Given the description of an element on the screen output the (x, y) to click on. 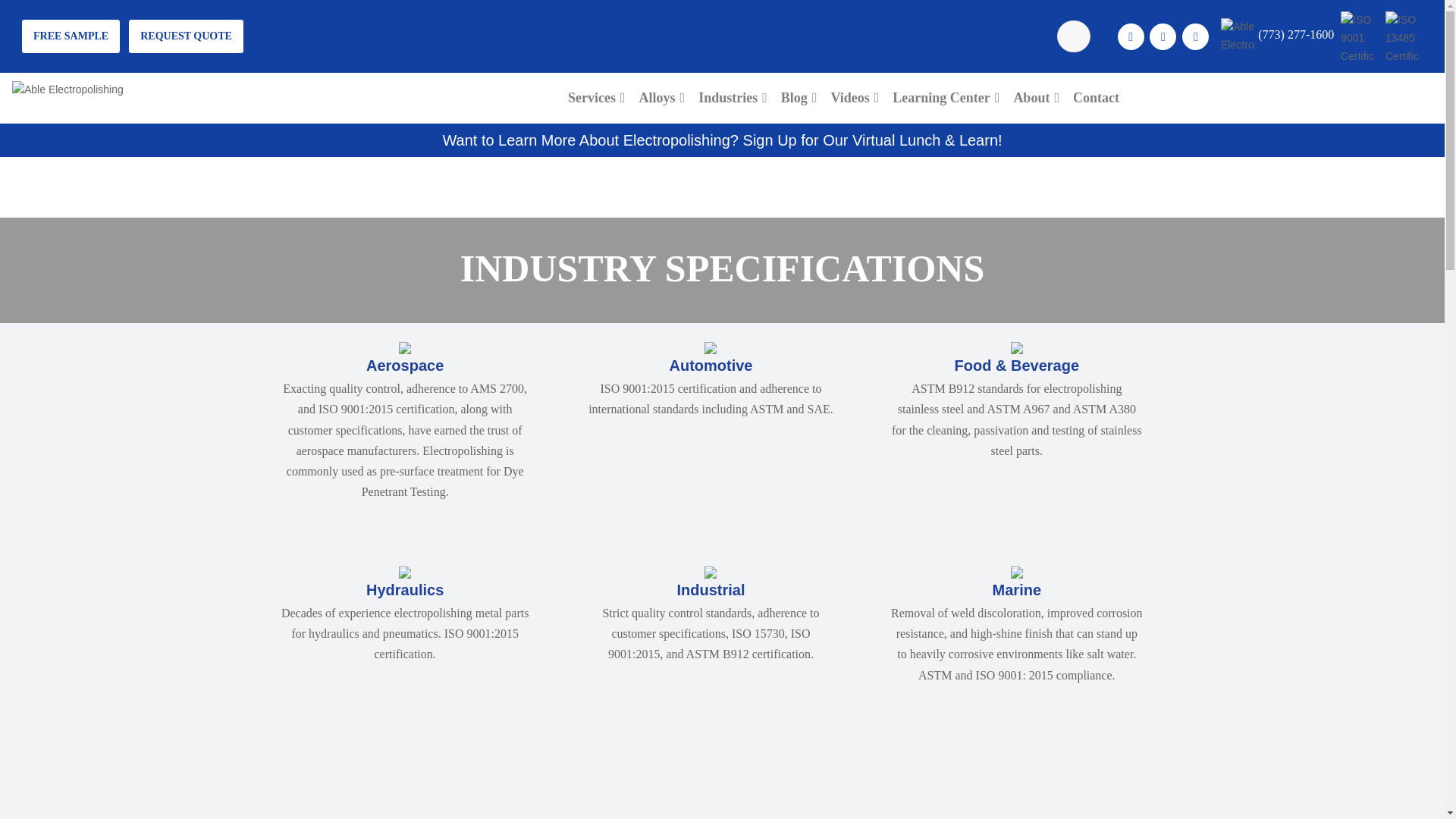
Services (596, 97)
Alloys (662, 97)
FREE SAMPLE (70, 36)
REQUEST QUOTE (186, 36)
